Given the description of an element on the screen output the (x, y) to click on. 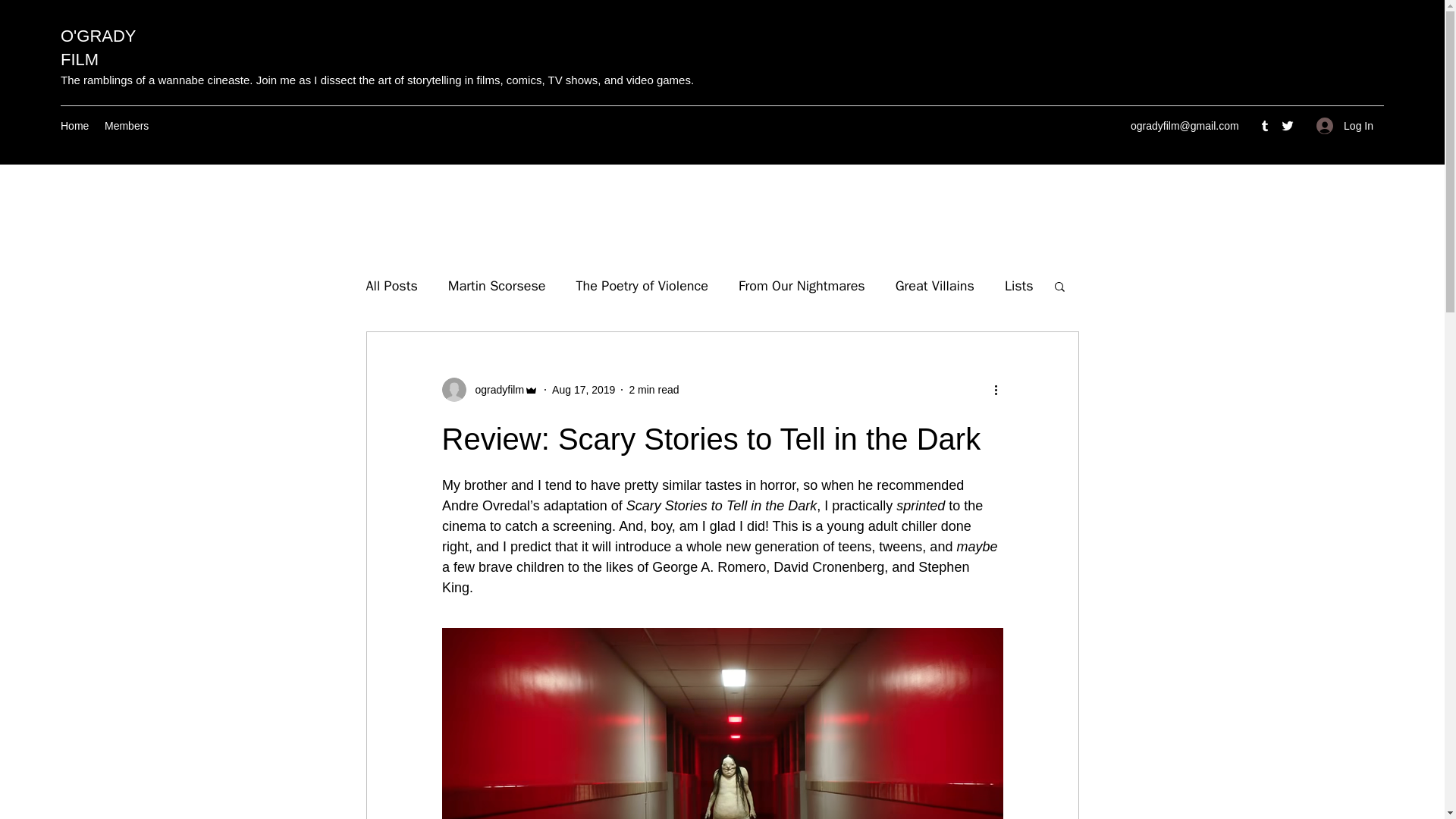
Martin Scorsese (497, 285)
ogradyfilm (489, 389)
2 min read (653, 389)
The Poetry of Violence (641, 285)
Log In (1345, 126)
Home (74, 125)
From Our Nightmares (801, 285)
O'GRADY FILM (98, 47)
Members (127, 125)
Lists (1018, 285)
All Posts (390, 285)
Great Villains (934, 285)
ogradyfilm (494, 390)
Aug 17, 2019 (582, 389)
